Given the description of an element on the screen output the (x, y) to click on. 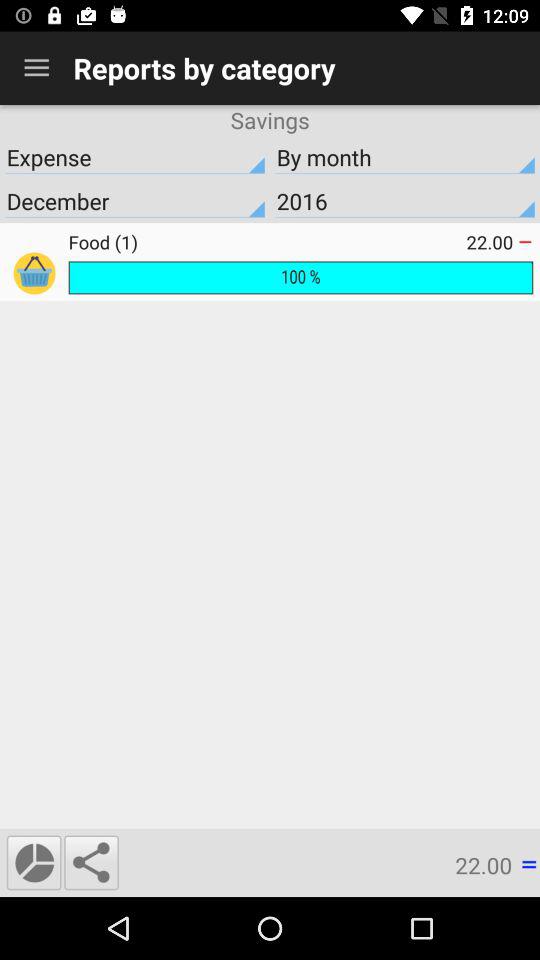
flip to expense item (135, 157)
